Given the description of an element on the screen output the (x, y) to click on. 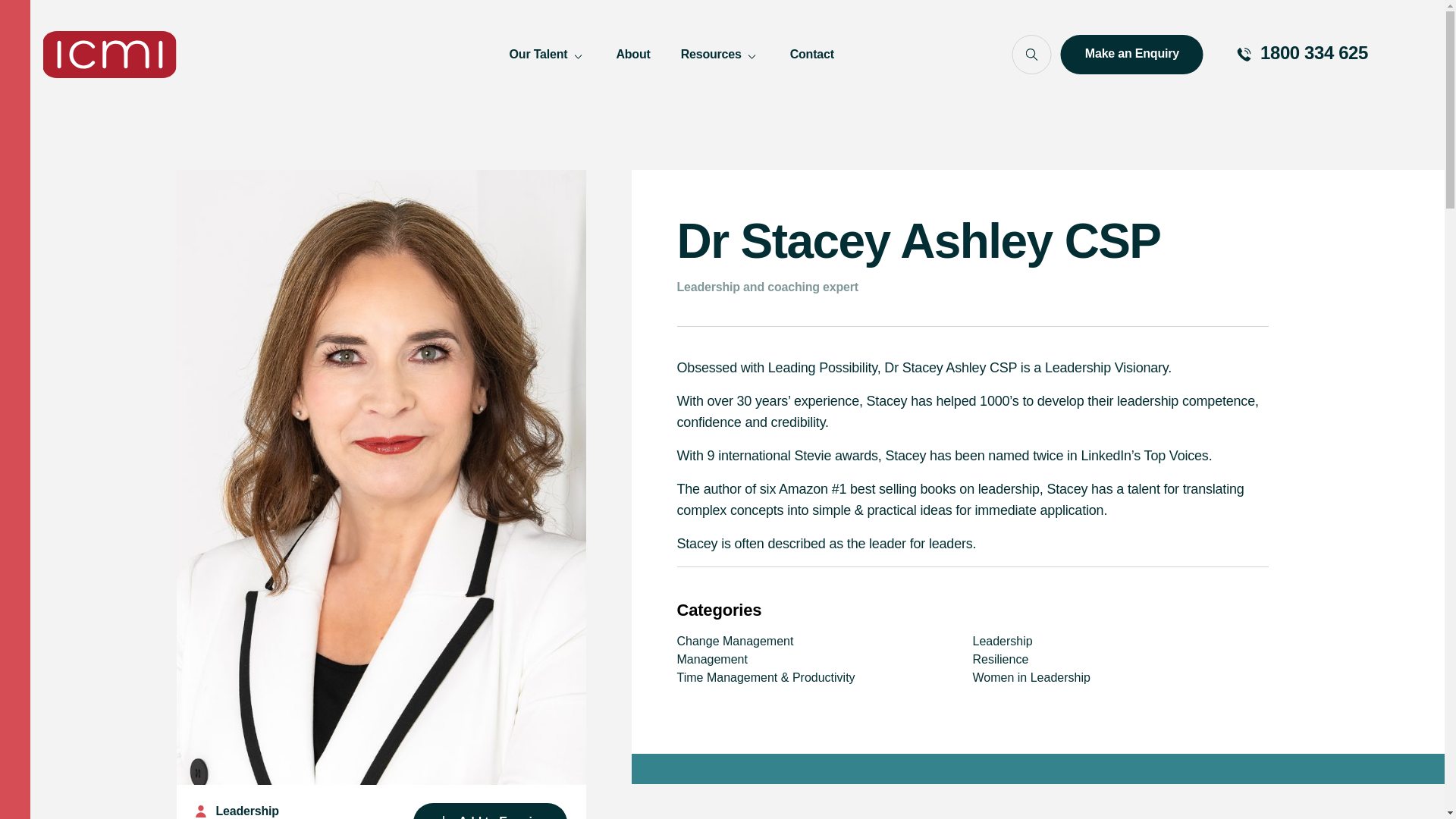
Contact (812, 54)
About (632, 54)
Resources (720, 54)
Home (109, 54)
